Given the description of an element on the screen output the (x, y) to click on. 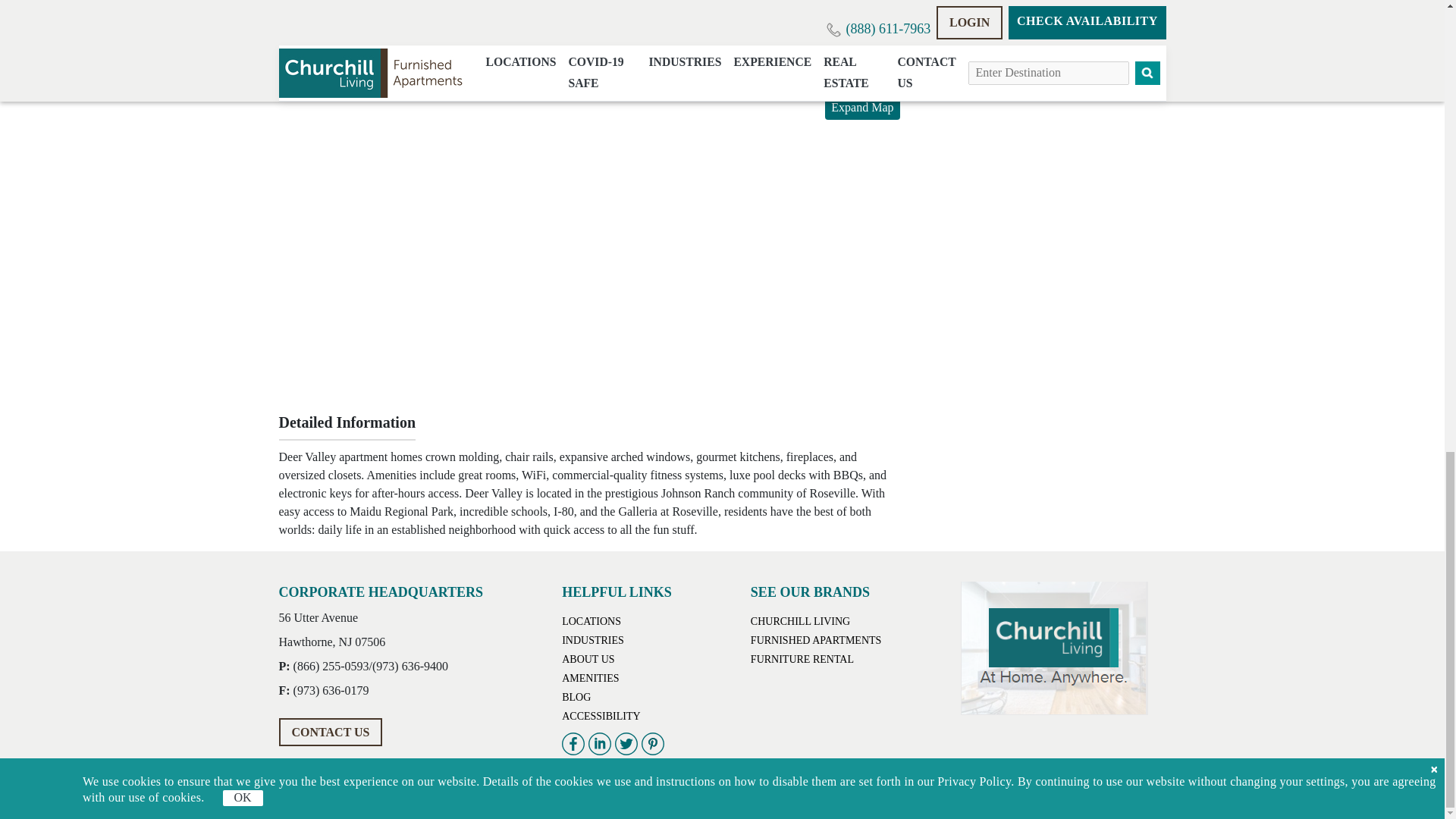
Expand Map (862, 107)
